Given the description of an element on the screen output the (x, y) to click on. 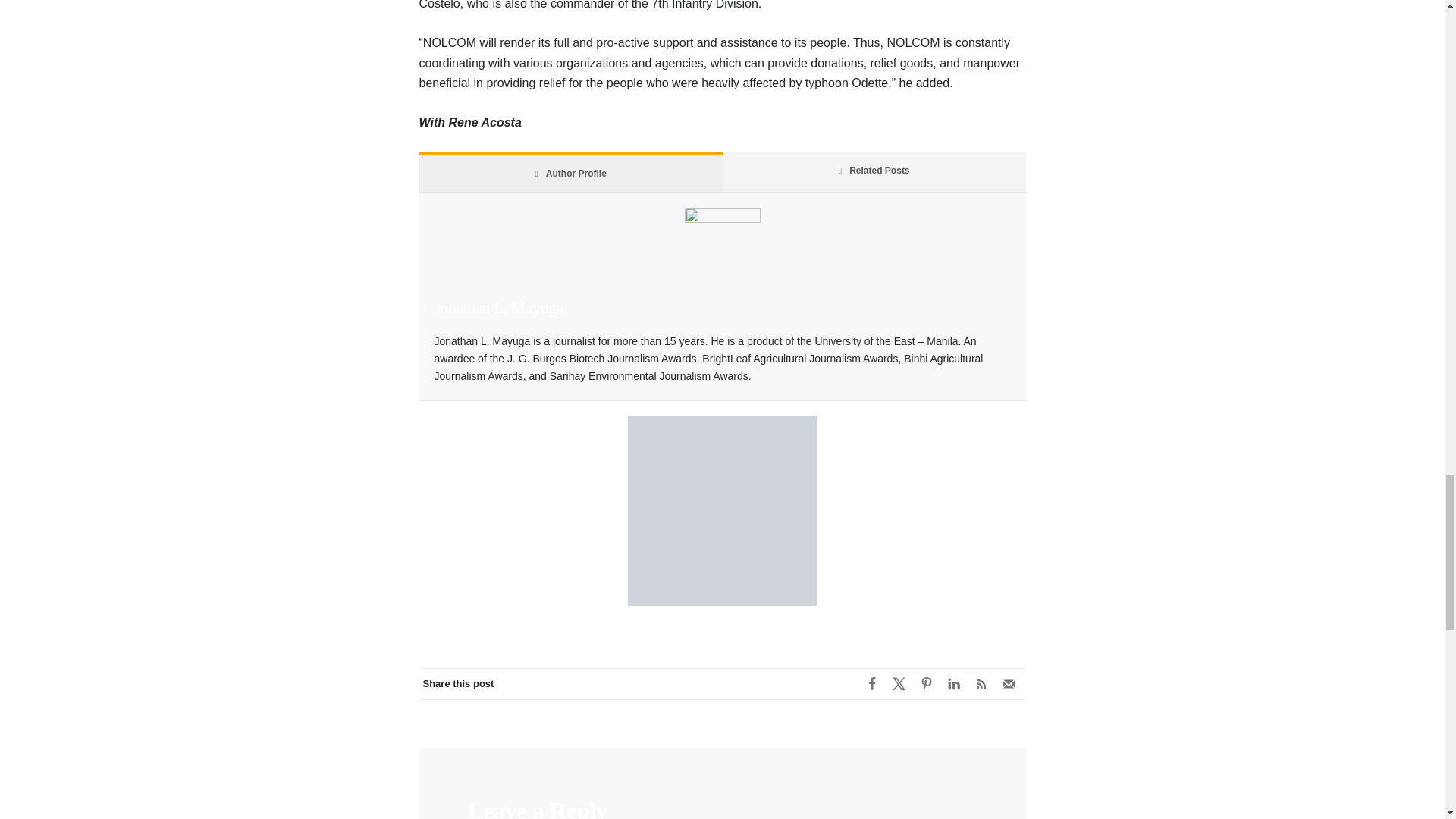
RSS (981, 684)
Email (1008, 684)
Pinterest (926, 684)
X (898, 684)
LinkeIn (954, 684)
Facebook (872, 684)
